Given the description of an element on the screen output the (x, y) to click on. 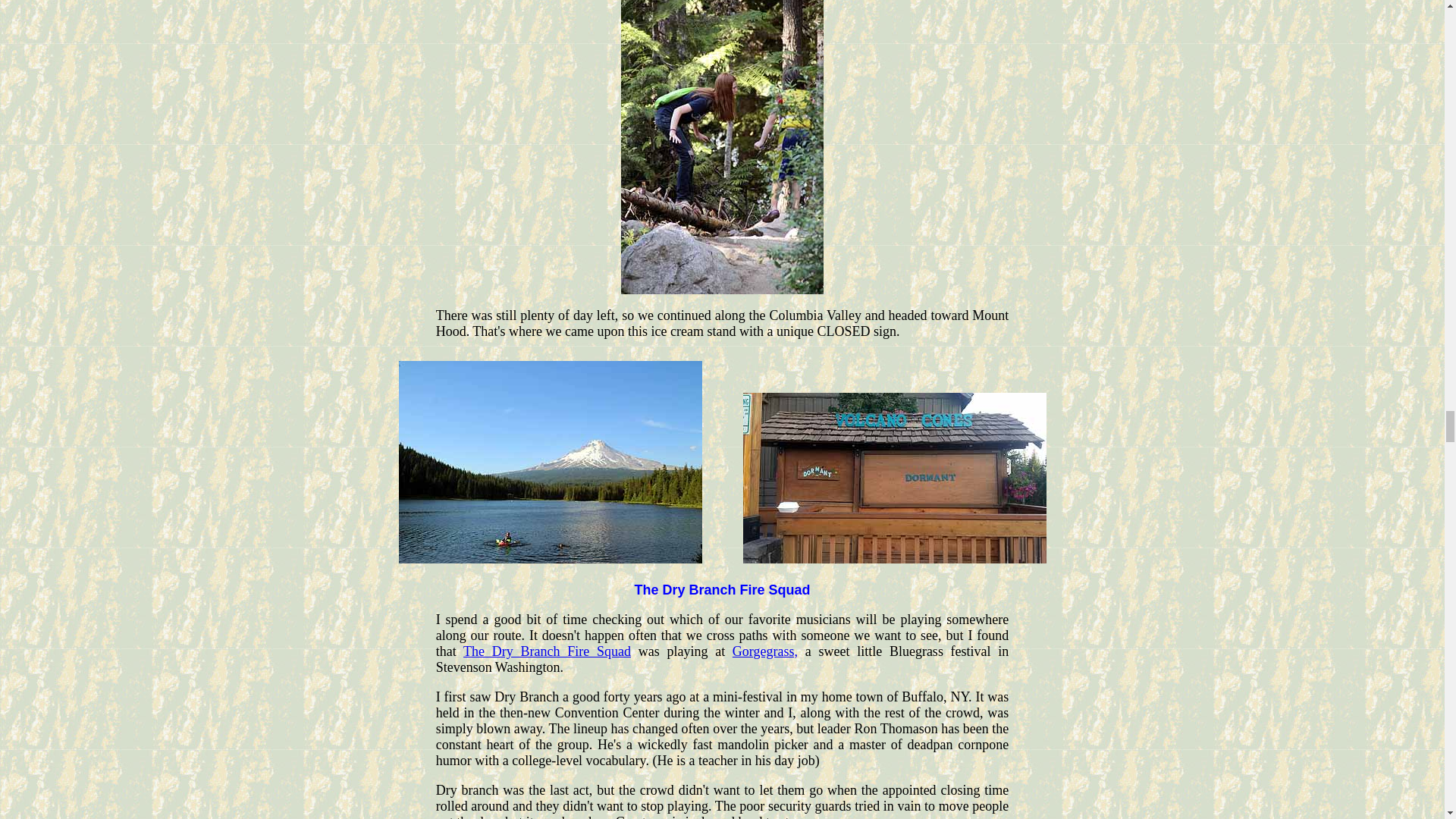
The Dry Branch Fire Squad (546, 651)
Gorgegrass, (764, 651)
